Given the description of an element on the screen output the (x, y) to click on. 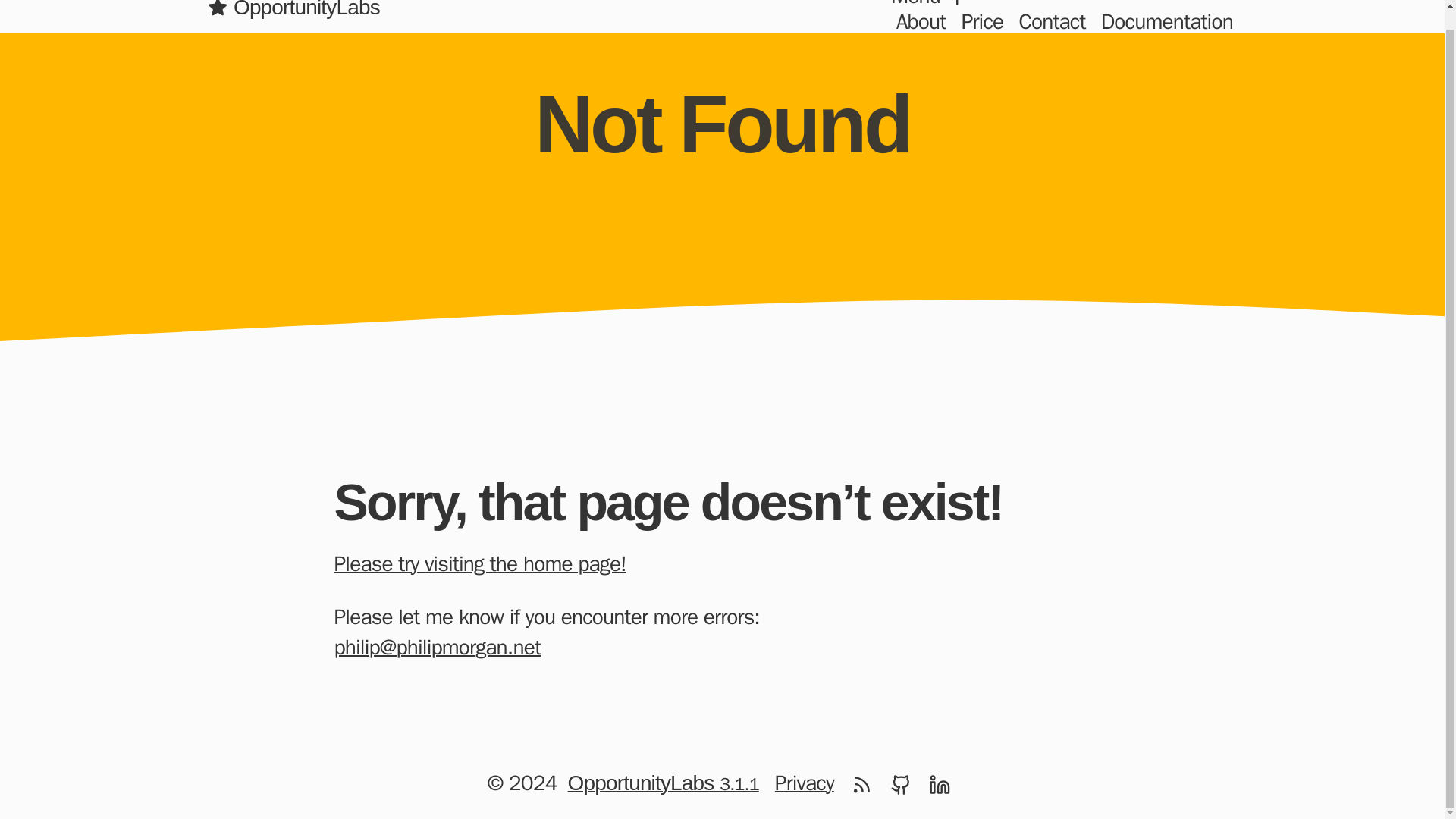
Documentation (1166, 21)
Contact (1051, 21)
Price (982, 21)
Menu (929, 5)
Please try visiting the home page! (488, 563)
About (920, 21)
Privacy (805, 782)
OpportunityLabs (292, 16)
OpportunityLabs 3.1.1 (663, 782)
